Given the description of an element on the screen output the (x, y) to click on. 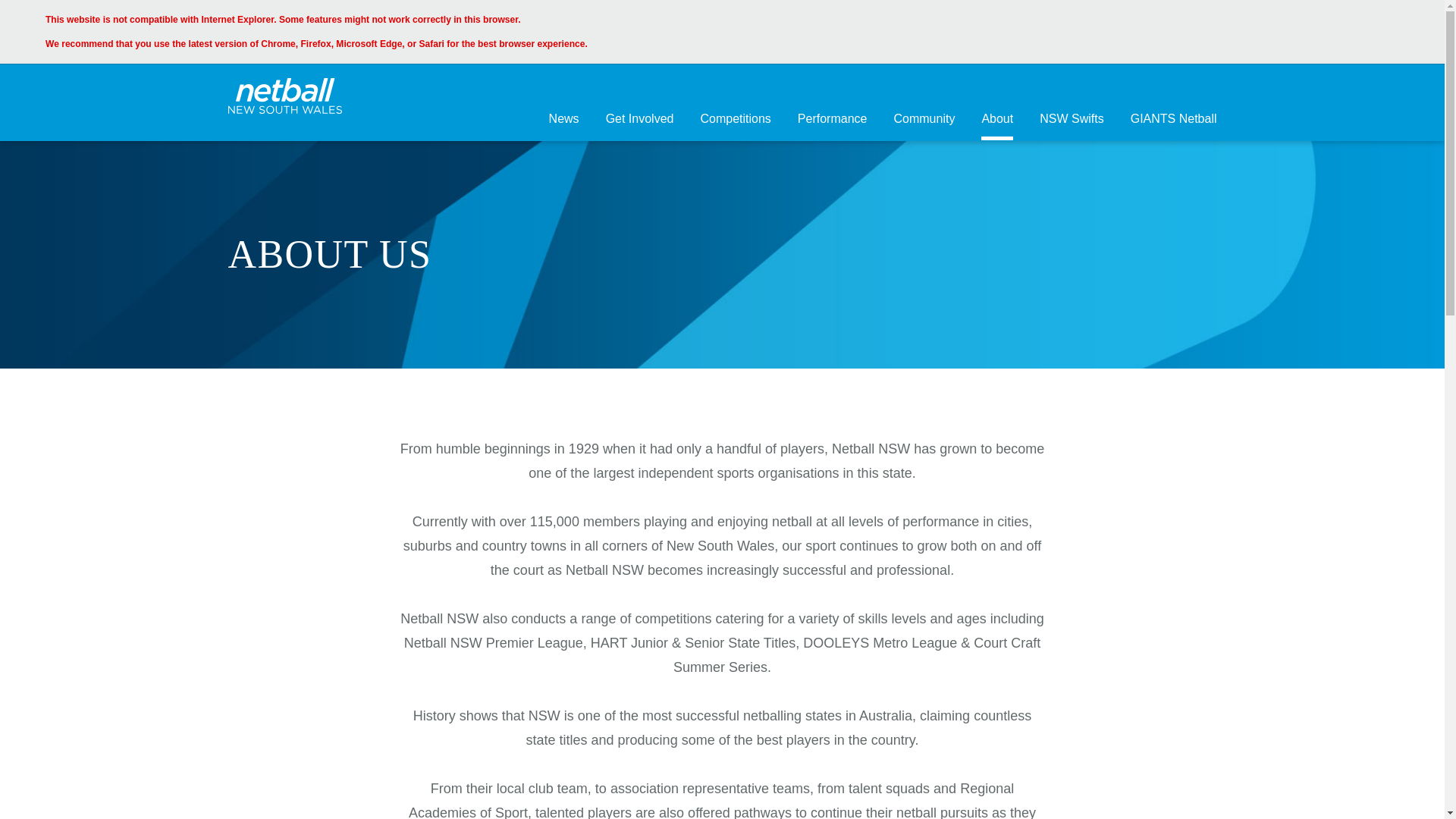
Competitions (734, 121)
Get Involved (639, 121)
News (564, 121)
